Given the description of an element on the screen output the (x, y) to click on. 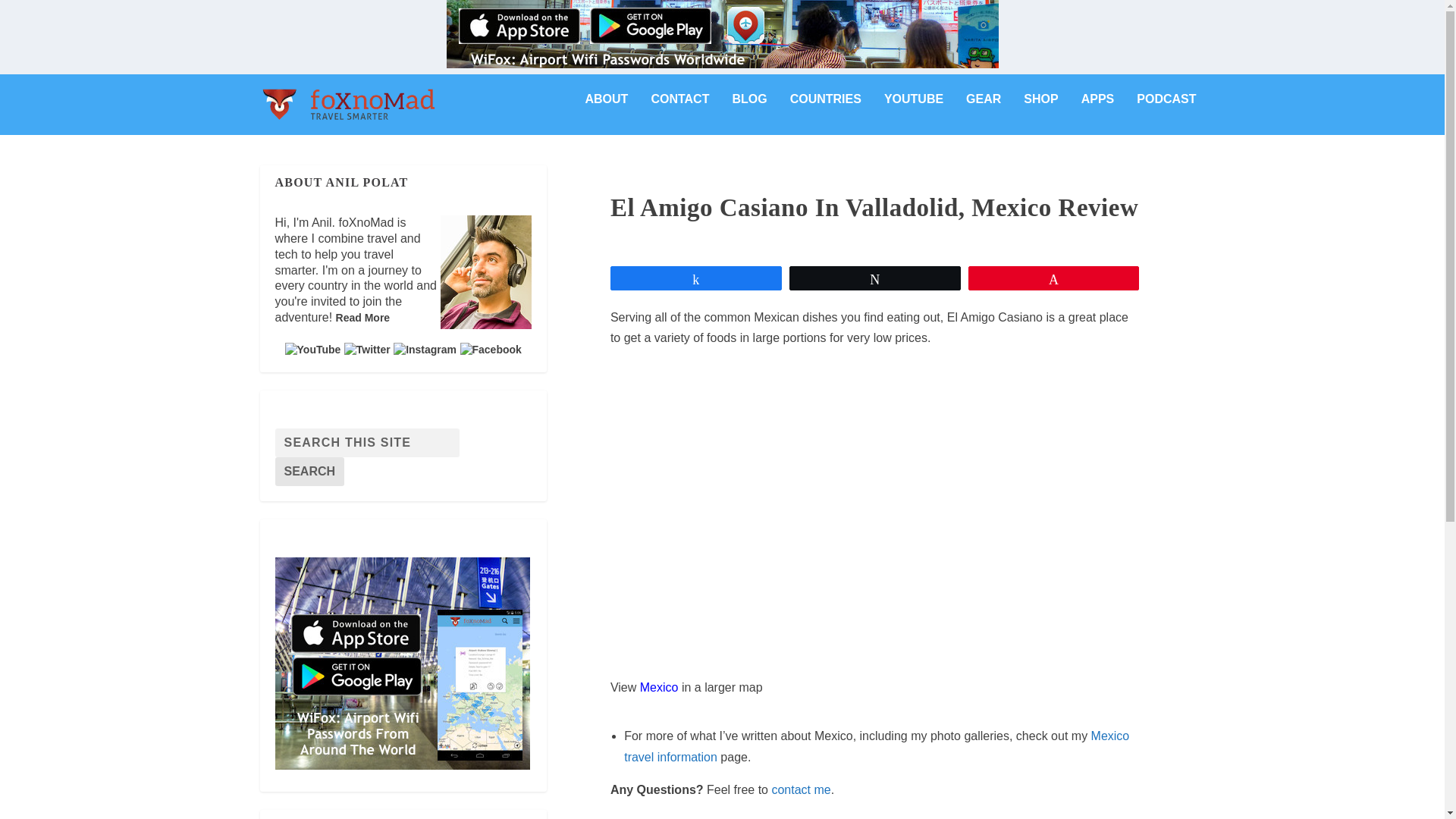
Instagram (425, 349)
BLOG (749, 111)
SHOP (1040, 111)
PODCAST (1166, 111)
Twitter (366, 349)
CONTACT (679, 111)
Search (310, 471)
APPS (1098, 111)
Mexico travel information (876, 745)
Search (310, 471)
